Given the description of an element on the screen output the (x, y) to click on. 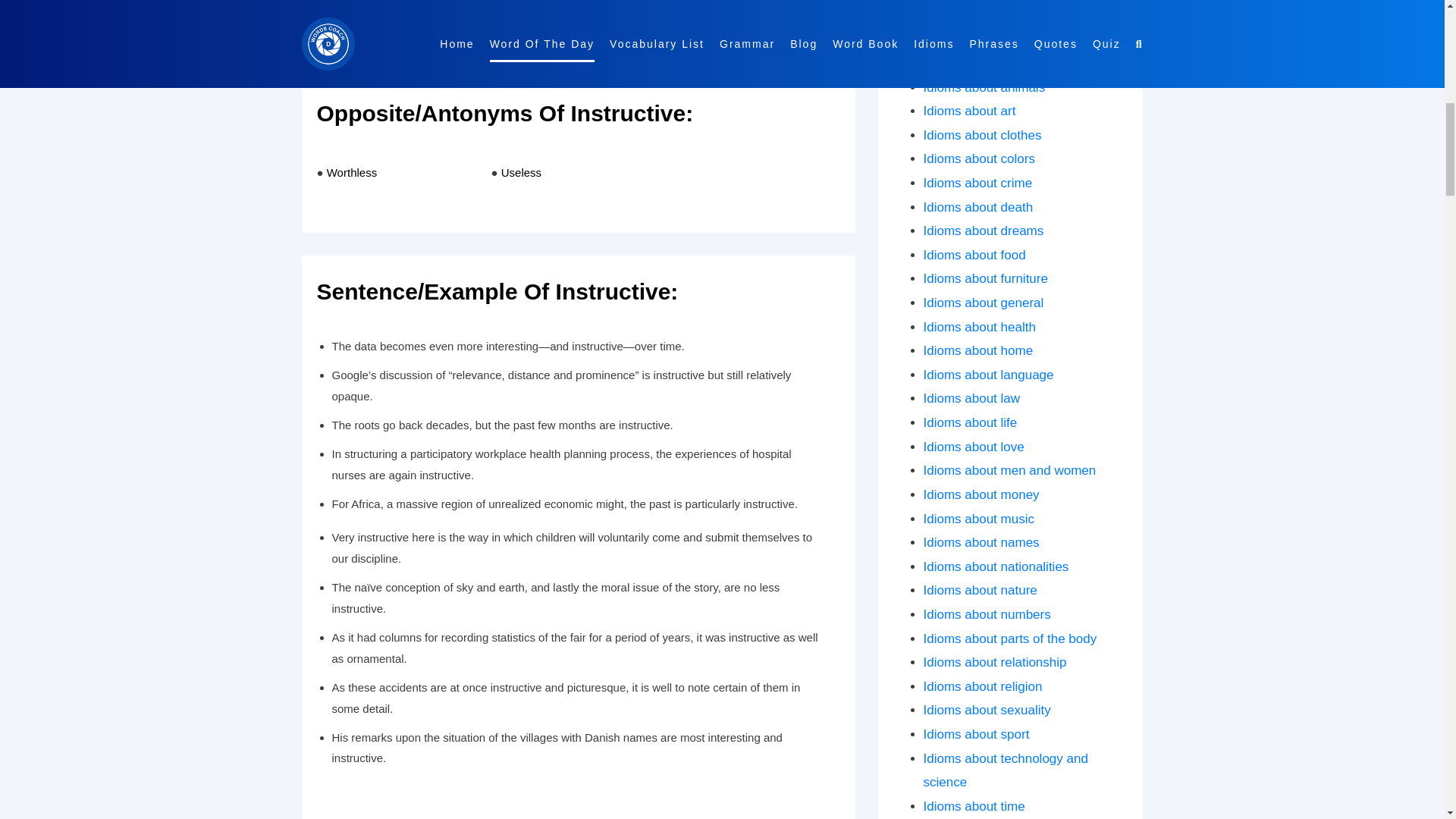
Idioms about art (969, 110)
Worthless (351, 172)
Familiar English Idioms (990, 38)
Useless (520, 172)
Idioms about Age (973, 63)
Advertisement (578, 15)
Common English Idioms (992, 15)
Idioms about animals (984, 87)
